Given the description of an element on the screen output the (x, y) to click on. 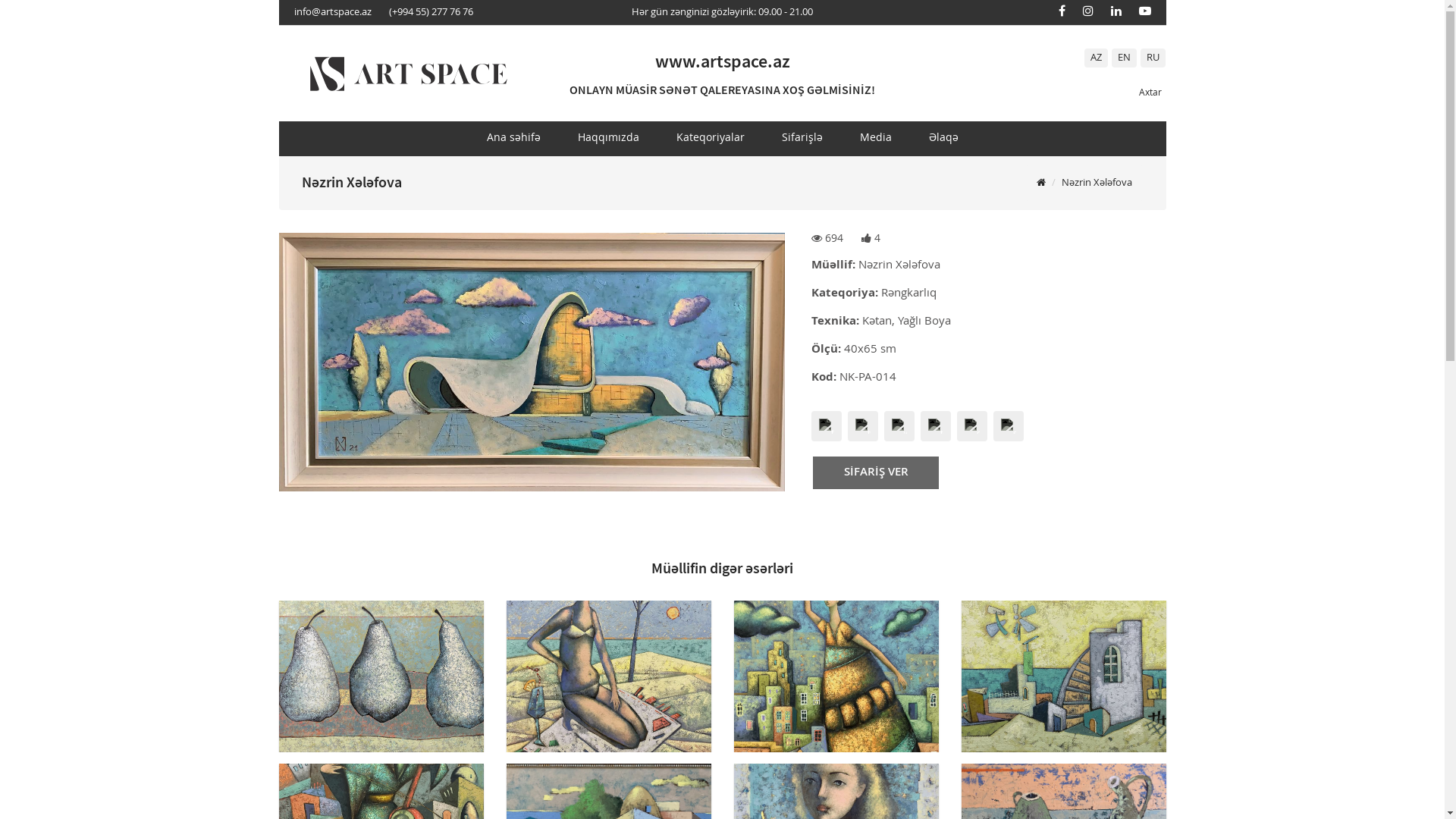
Instagram Element type: hover (1087, 10)
EN Element type: text (1123, 57)
Linkedin Element type: hover (1115, 10)
RU Element type: text (1152, 57)
AZ Element type: text (1095, 57)
Media Element type: text (875, 137)
www.artspace.az Element type: text (722, 60)
Kateqoriyalar Element type: text (710, 137)
Facebook Element type: hover (1061, 10)
Youtube Element type: hover (1145, 10)
info@artspace.az Element type: text (332, 12)
(+994 55) 277 76 76 Element type: text (430, 12)
Axtar Element type: text (1143, 92)
4 Element type: text (870, 238)
